Given the description of an element on the screen output the (x, y) to click on. 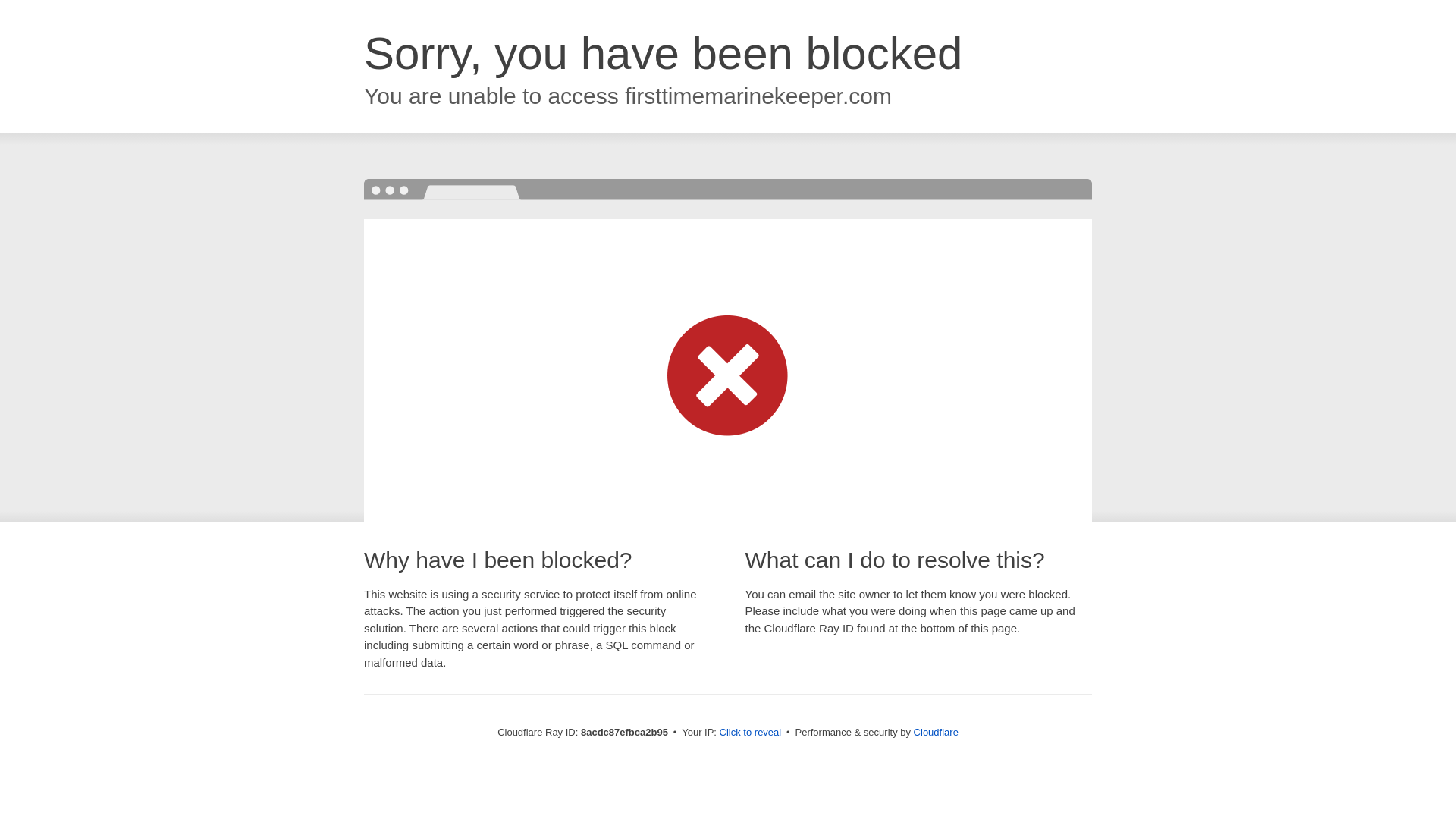
Cloudflare (936, 731)
Click to reveal (750, 732)
